Given the description of an element on the screen output the (x, y) to click on. 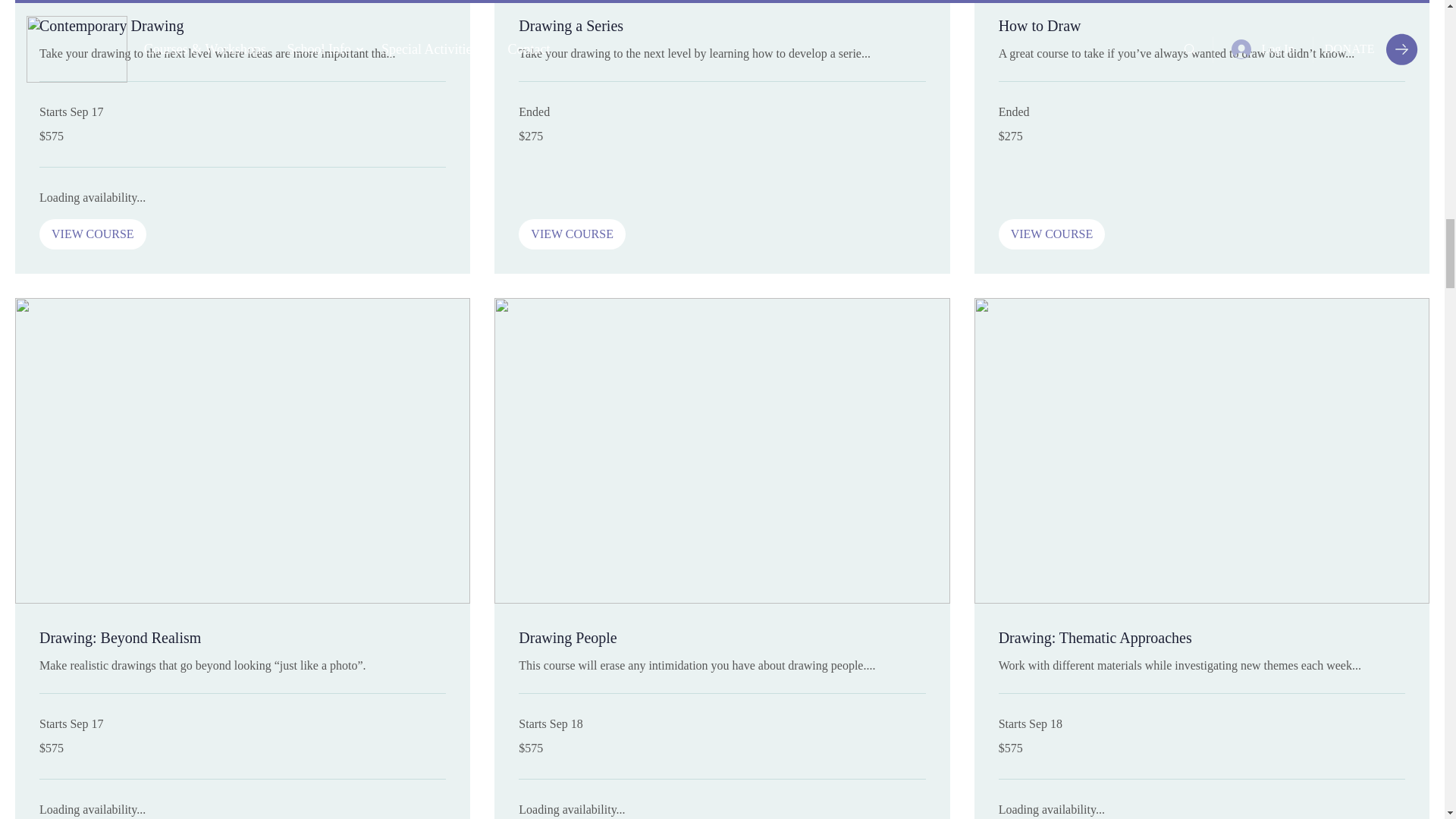
VIEW COURSE (1051, 235)
VIEW COURSE (93, 235)
Drawing: Beyond Realism (242, 638)
Contemporary Drawing (242, 25)
Drawing a Series (721, 25)
How to Draw (1201, 25)
Drawing People (721, 638)
Drawing: Thematic Approaches (1201, 638)
VIEW COURSE (572, 235)
